Given the description of an element on the screen output the (x, y) to click on. 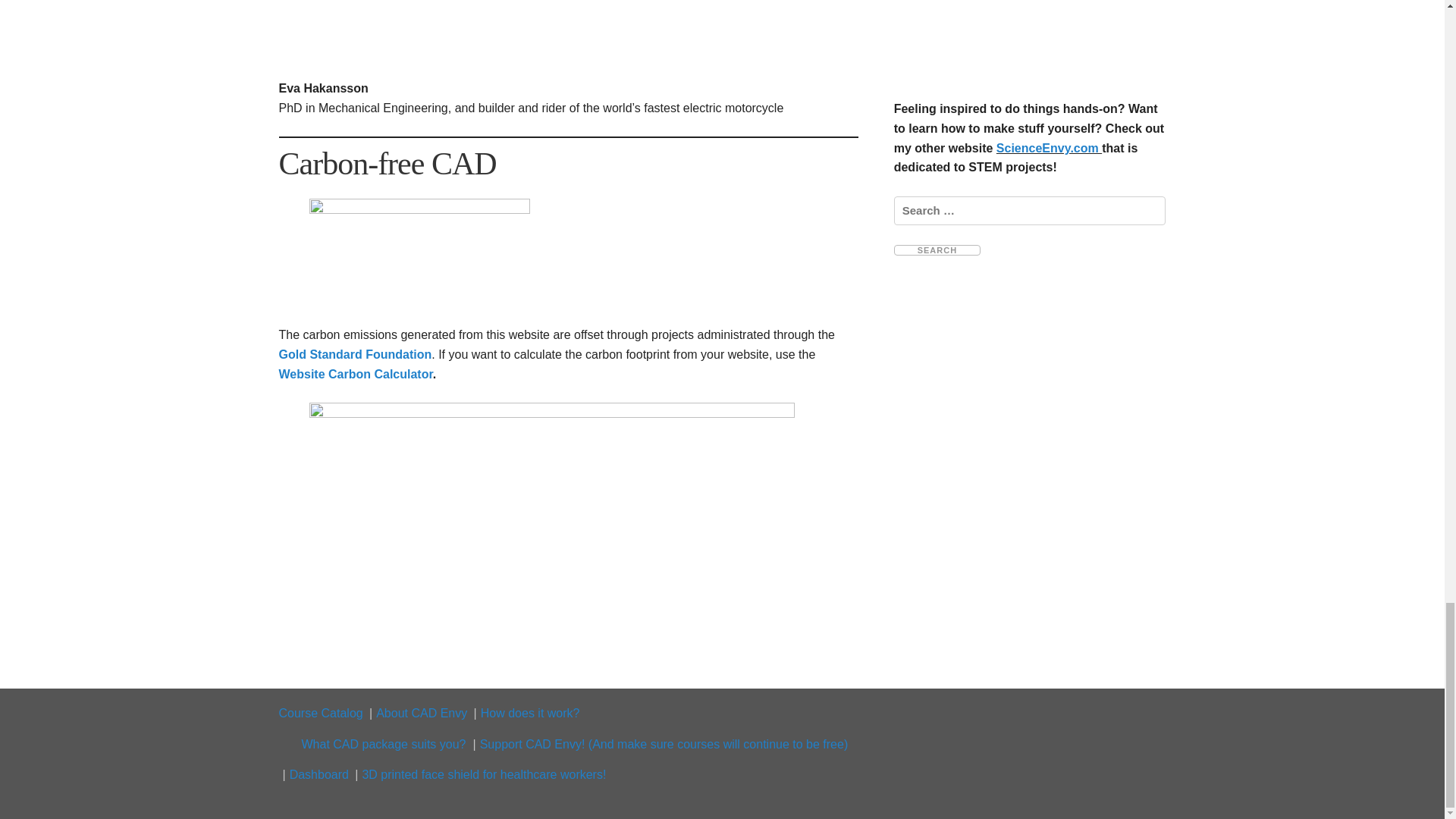
Gold Standard Foundation (355, 354)
Search (936, 249)
ScienceEnvy.com (1048, 147)
Dashboard (319, 774)
Website Carbon Calculator (355, 373)
About CAD Envy (421, 712)
Course Catalog (320, 712)
3D printed face shield for healthcare workers! (483, 774)
Search (936, 249)
How does it work? (529, 712)
